Given the description of an element on the screen output the (x, y) to click on. 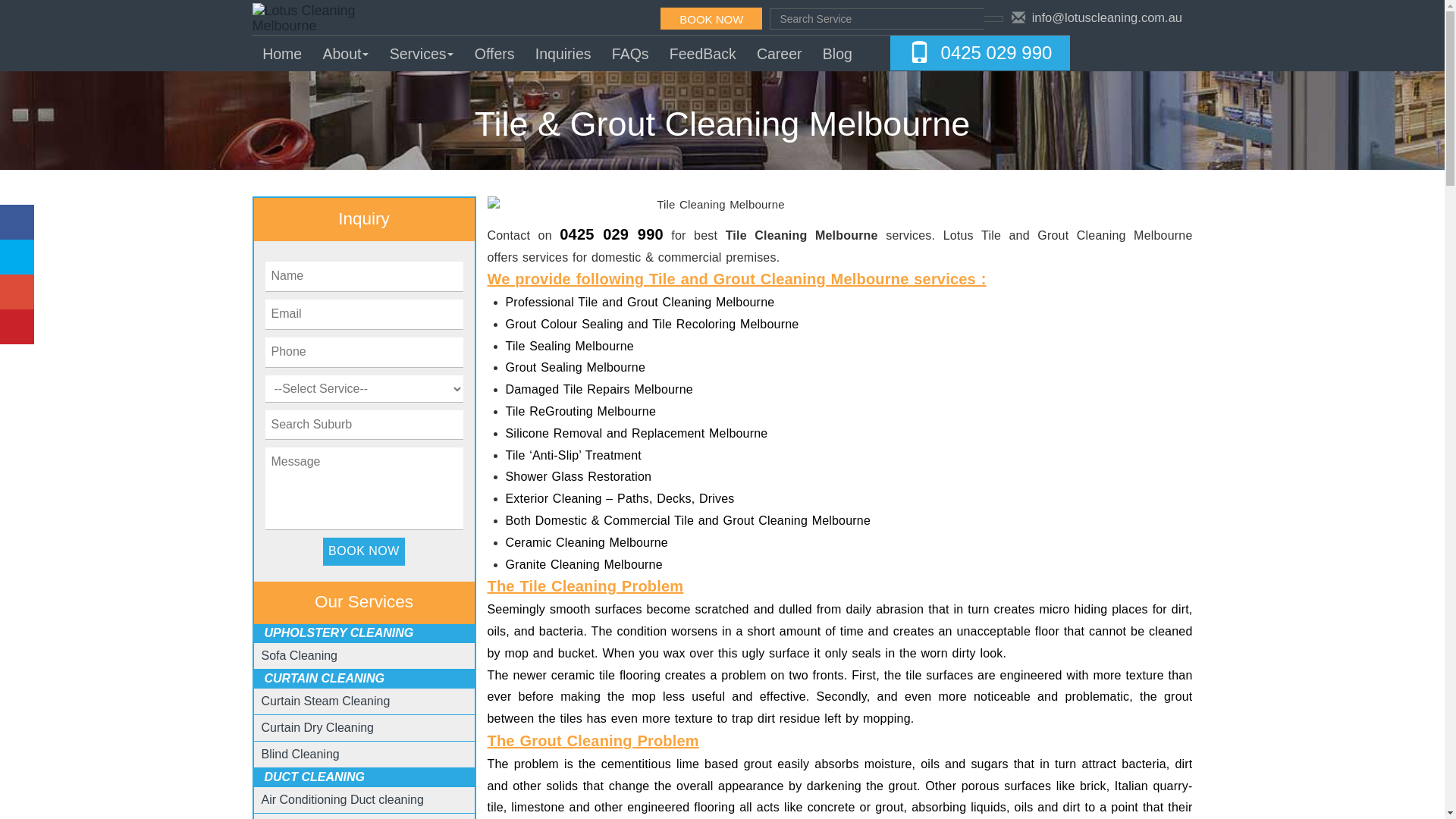
Offers Element type: text (494, 53)
Sofa Cleaning Element type: text (299, 655)
Inquiries Element type: text (562, 53)
FAQs Element type: text (629, 53)
Blind Cleaning Element type: text (300, 753)
BOOK NOW Element type: text (363, 551)
share with: facebook Element type: hover (17, 221)
share with: twitter Element type: hover (17, 256)
CURTAIN CLEANING Element type: text (324, 677)
share with: pinterest Element type: hover (17, 326)
Tile Sealing Melbourne Element type: text (569, 345)
DUCT CLEANING Element type: text (314, 776)
About Element type: text (345, 53)
Curtain Steam Cleaning Element type: text (325, 700)
Career Element type: text (779, 53)
Blog Element type: text (837, 53)
info@lotuscleaning.com.au Element type: text (1107, 17)
Air Conditioning Duct cleaning Element type: text (342, 799)
0425 029 990 Element type: text (996, 52)
BOOK NOW Element type: text (711, 18)
FeedBack Element type: text (702, 53)
Home Element type: text (281, 53)
Curtain Dry Cleaning Element type: text (317, 727)
UPHOLSTERY CLEANING Element type: text (338, 632)
share with: google-plus Element type: hover (17, 291)
Services Element type: text (421, 53)
0425 029 990 Element type: text (611, 233)
